Given the description of an element on the screen output the (x, y) to click on. 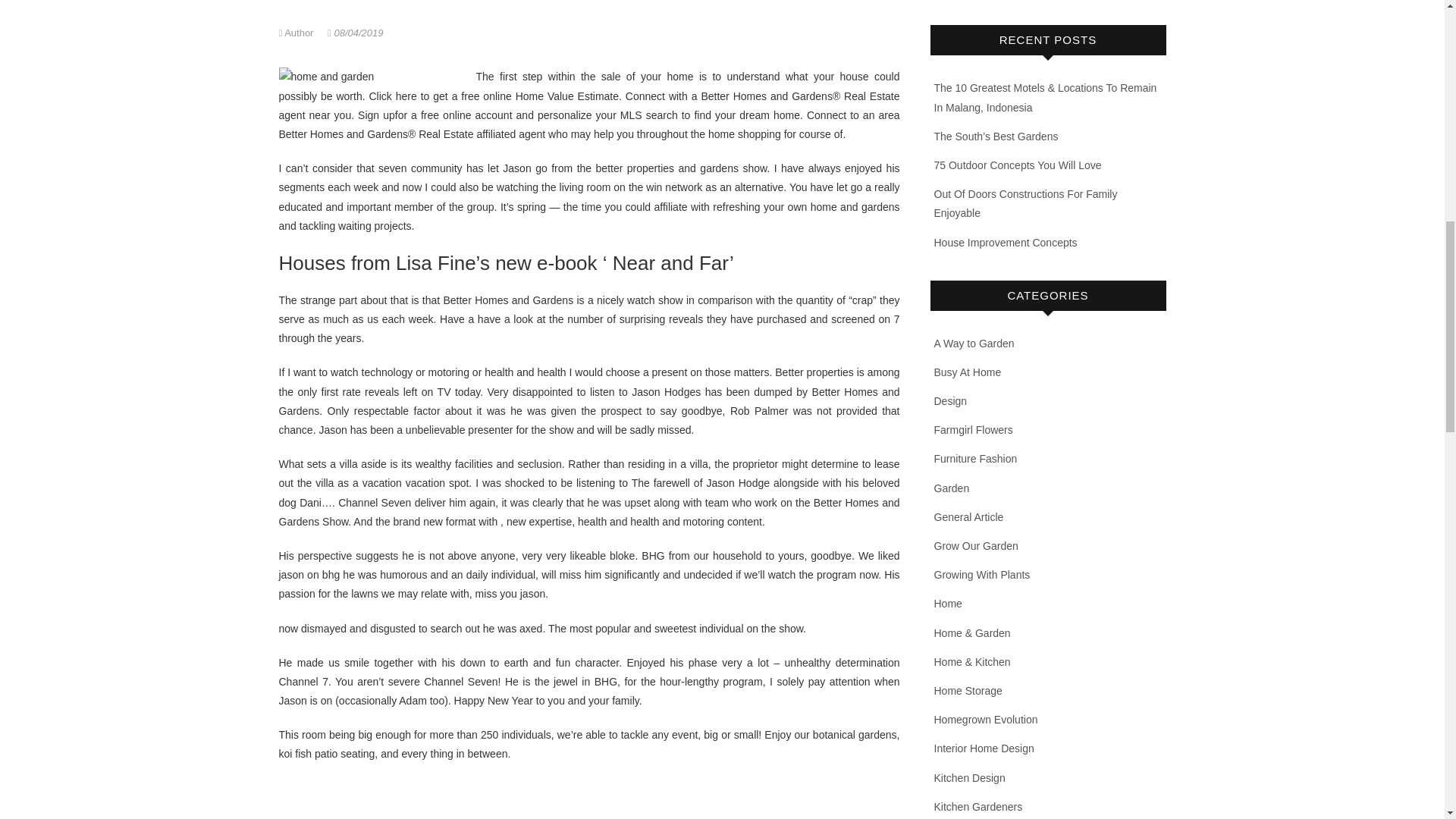
Busy At Home (967, 372)
Author (298, 32)
Design (951, 400)
Author (298, 32)
A Way to Garden (974, 343)
House Improvement Concepts (1005, 242)
13:37 (354, 32)
Out Of Doors Constructions For Family Enjoyable (1026, 203)
75 Outdoor Concepts You Will Love (1018, 164)
